Given the description of an element on the screen output the (x, y) to click on. 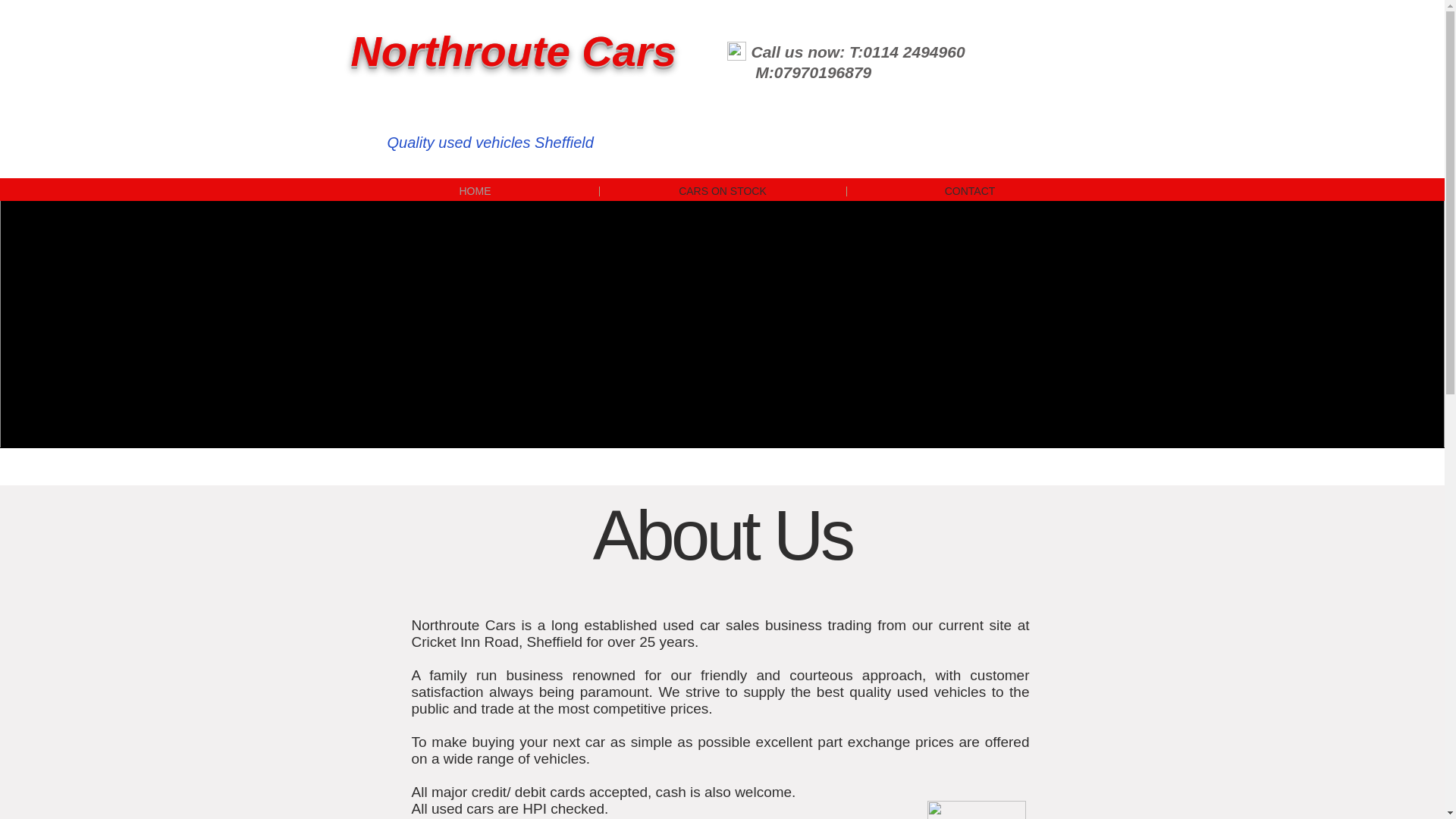
HOME (475, 191)
CARS ON STOCK (721, 191)
CONTACT (969, 191)
